Given the description of an element on the screen output the (x, y) to click on. 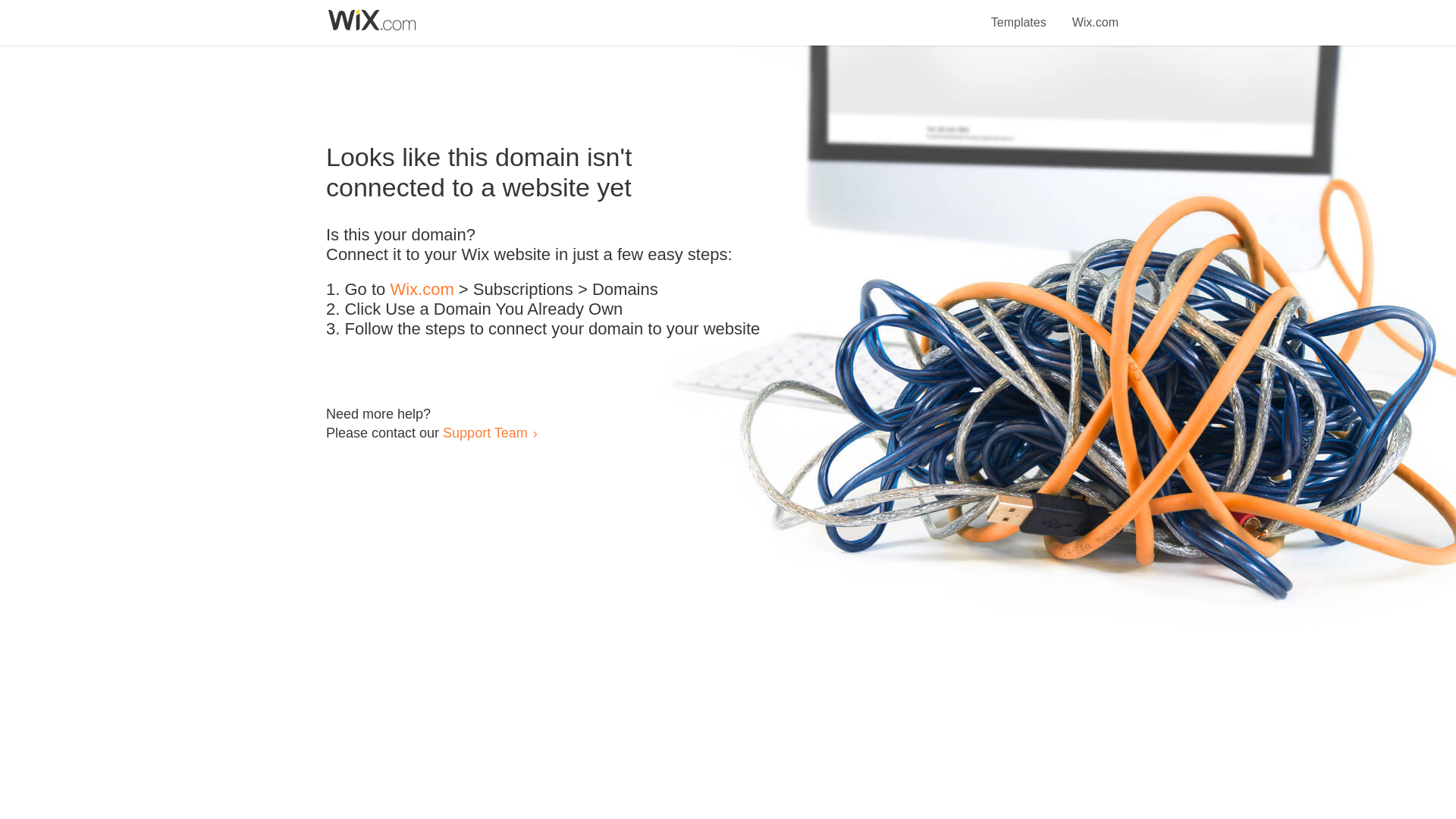
Wix.com (1095, 14)
Templates (1018, 14)
Wix.com (421, 289)
Support Team (484, 432)
